Given the description of an element on the screen output the (x, y) to click on. 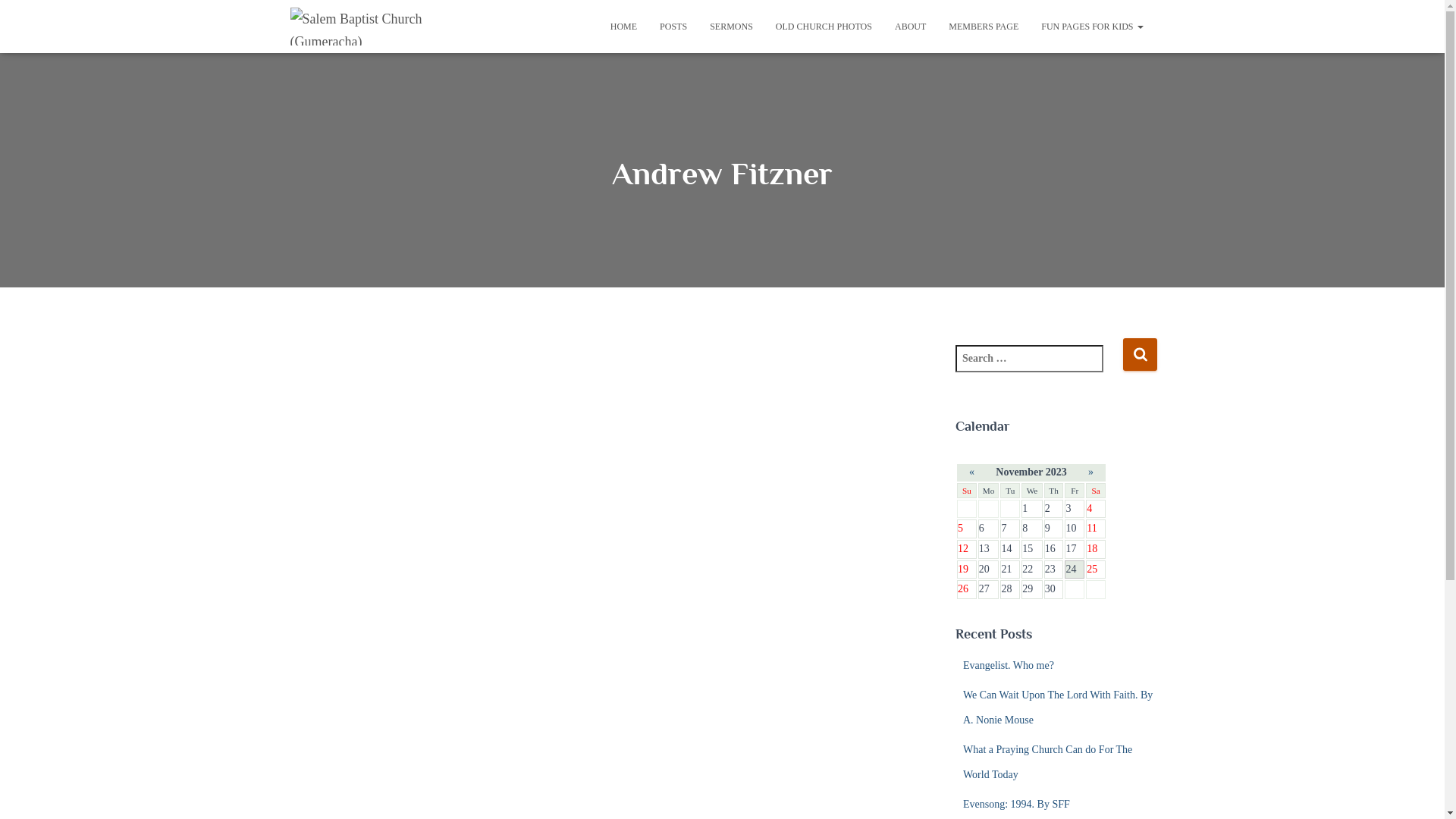
Evensong: 1994. By SFF Element type: text (1016, 803)
Evangelist. Who me? Element type: text (1008, 665)
SERMONS Element type: text (731, 26)
FUN PAGES FOR KIDS Element type: text (1091, 26)
HOME Element type: text (623, 26)
We Can Wait Upon The Lord With Faith. By A. Nonie Mouse Element type: text (1057, 707)
MEMBERS PAGE Element type: text (983, 26)
Search Element type: text (1140, 354)
ABOUT Element type: text (910, 26)
Salem Baptist Church (Gumeracha) Element type: hover (379, 26)
What a Praying Church Can do For The World Today Element type: text (1047, 762)
POSTS Element type: text (673, 26)
OLD CHURCH PHOTOS Element type: text (823, 26)
